Given the description of an element on the screen output the (x, y) to click on. 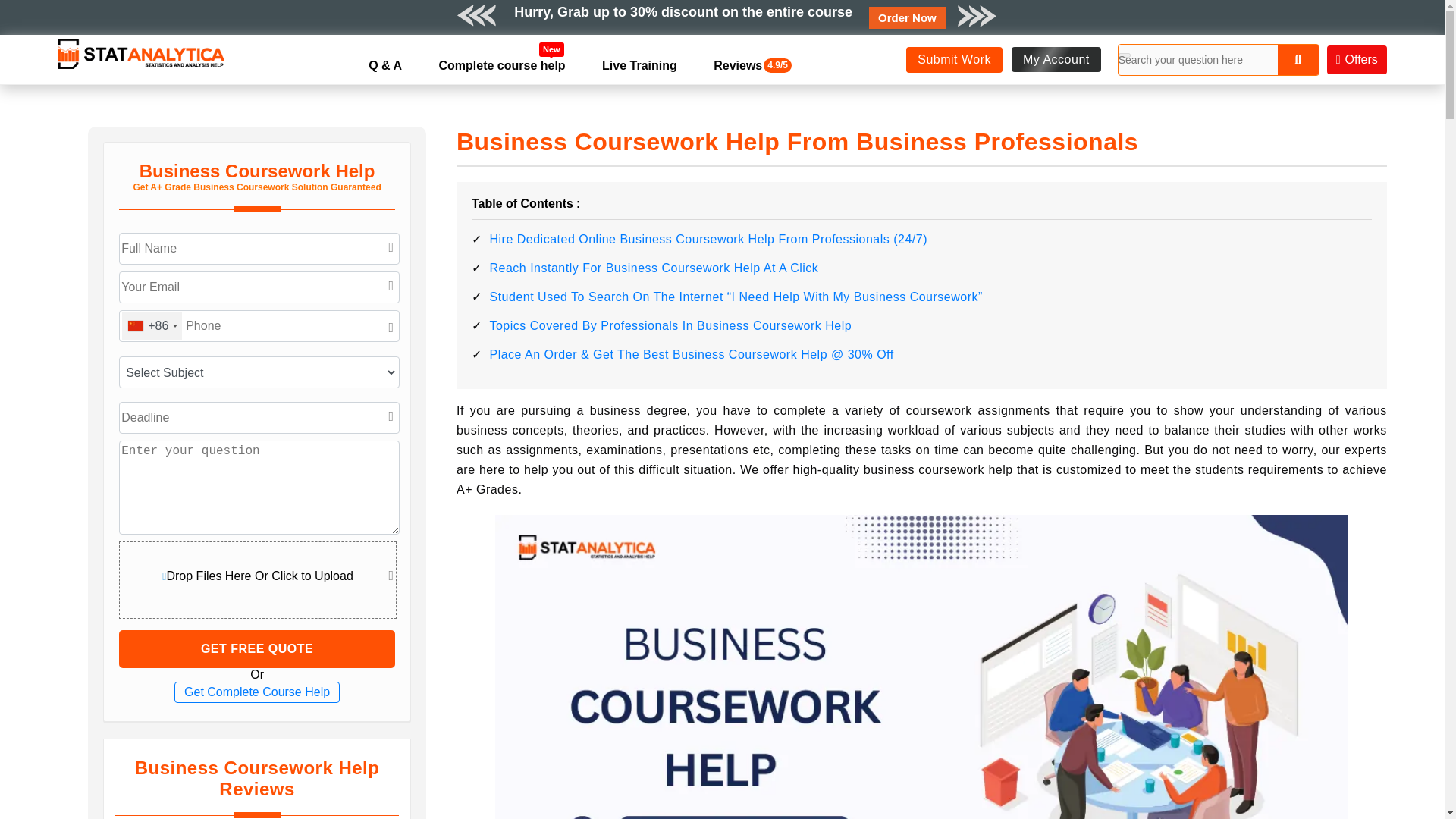
Live Training (639, 65)
Order Now (906, 16)
